Given the description of an element on the screen output the (x, y) to click on. 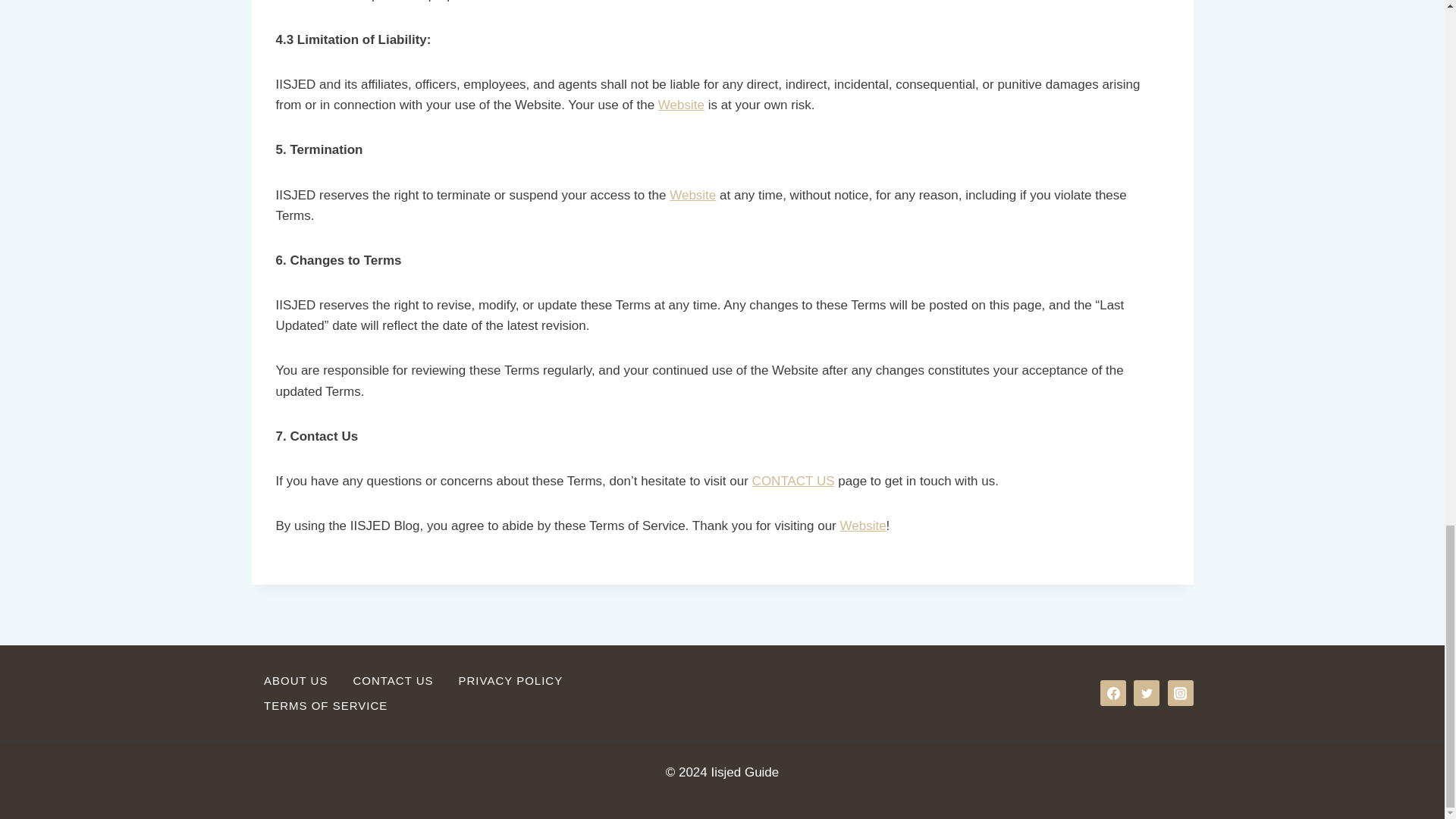
CONTACT US (392, 680)
ABOUT US (295, 680)
Website (681, 104)
CONTACT US (793, 481)
Website (862, 525)
TERMS OF SERVICE (325, 705)
PRIVACY POLICY (510, 680)
Website (692, 195)
